Given the description of an element on the screen output the (x, y) to click on. 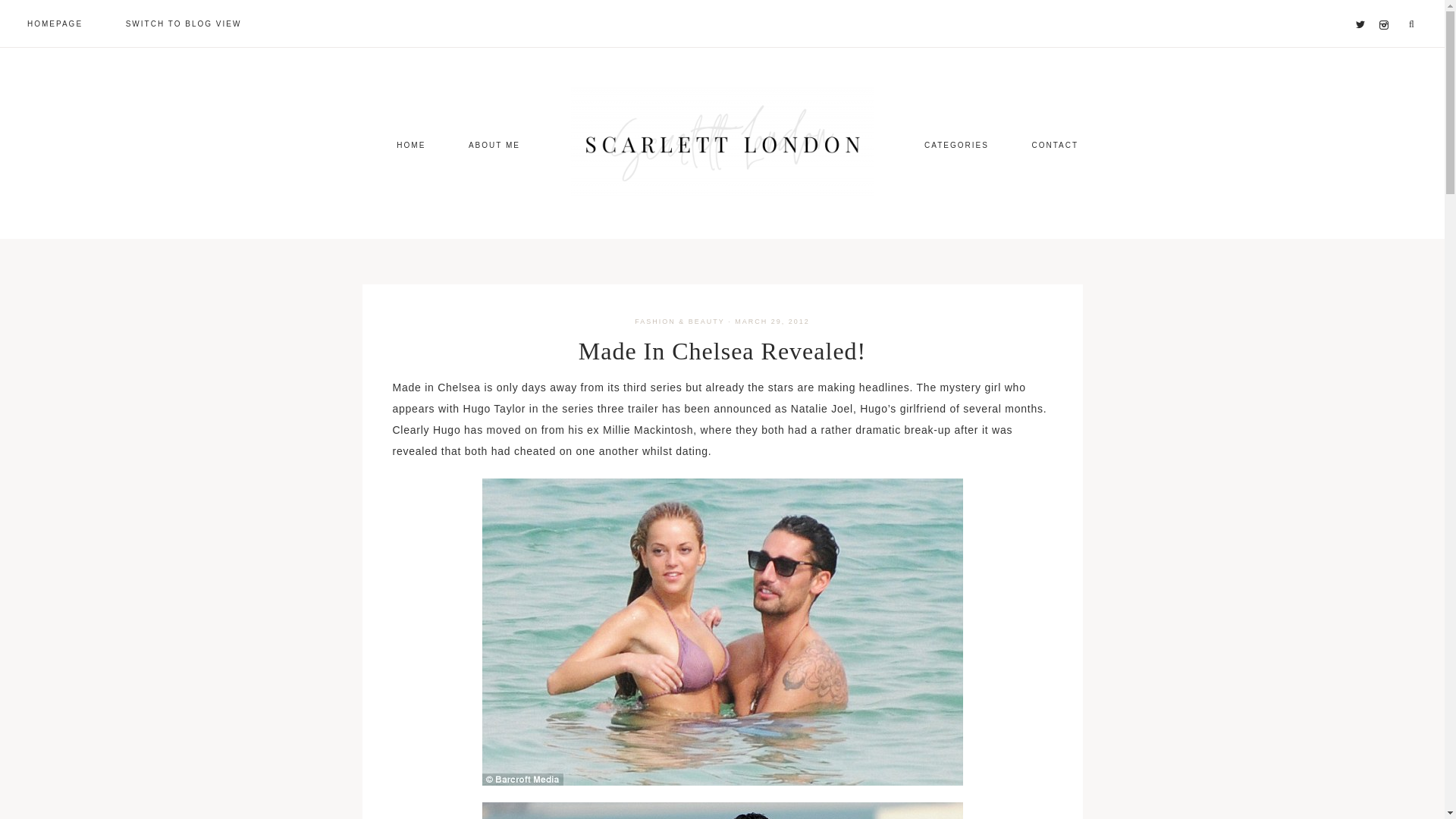
CATEGORIES (956, 144)
Twitter (1363, 6)
SWITCH TO BLOG VIEW (184, 22)
CONTACT (1054, 144)
Scarlett London (721, 143)
HOMEPAGE (54, 22)
HOME (411, 144)
ABOUT ME (494, 144)
Instagram (1386, 6)
